Given the description of an element on the screen output the (x, y) to click on. 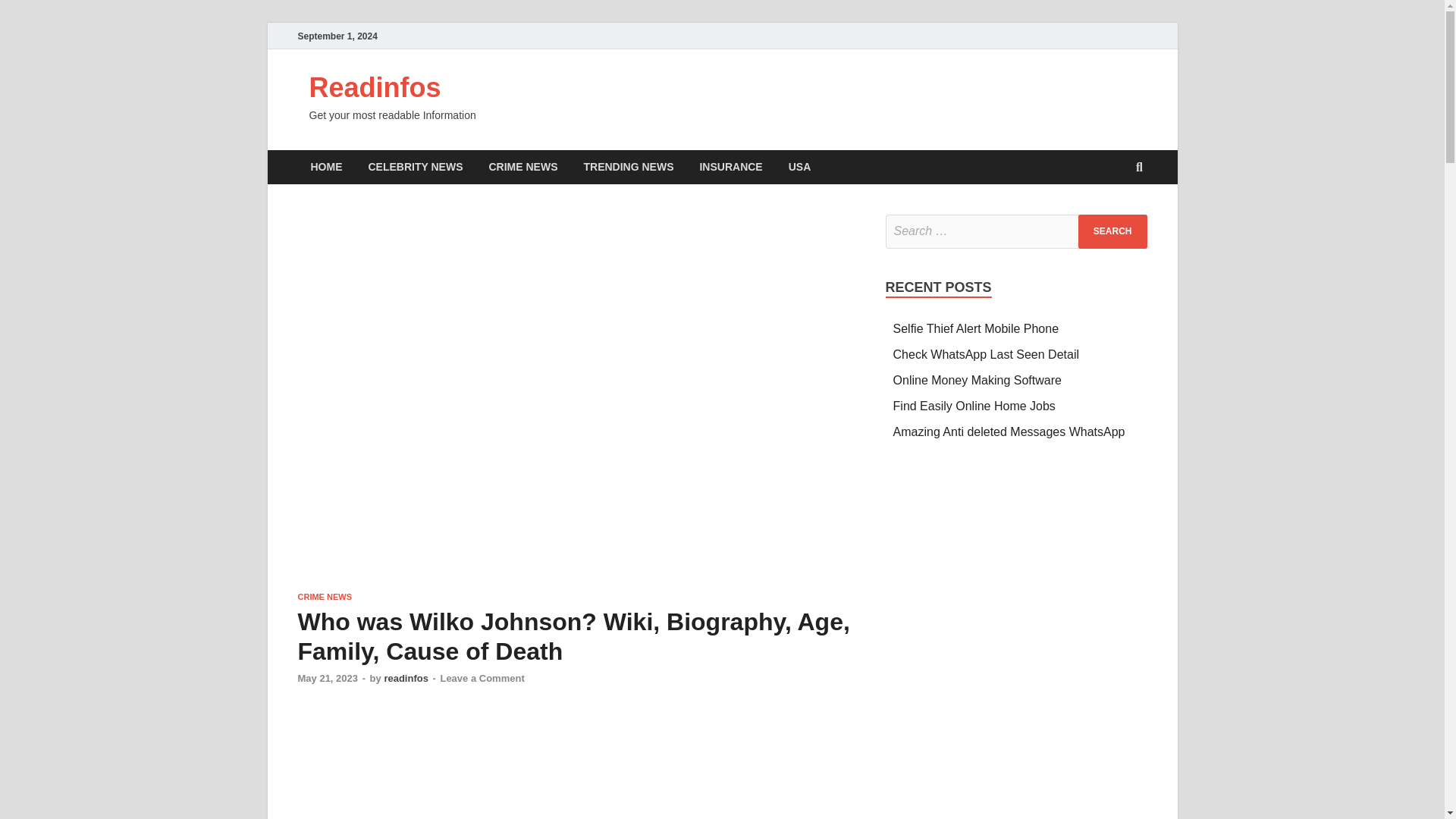
CRIME NEWS (324, 596)
Online Money Making Software (977, 379)
readinfos (406, 677)
USA (800, 166)
Find Easily Online Home Jobs (974, 405)
Selfie Thief Alert Mobile Phone (976, 328)
CELEBRITY NEWS (415, 166)
INSURANCE (729, 166)
TRENDING NEWS (627, 166)
Readinfos (374, 87)
